Given the description of an element on the screen output the (x, y) to click on. 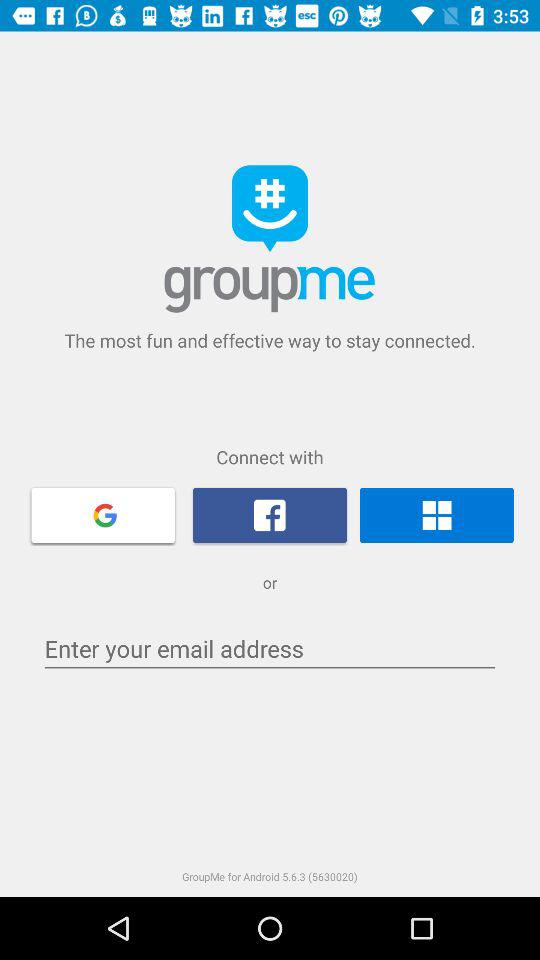
connect with google account (103, 513)
